Given the description of an element on the screen output the (x, y) to click on. 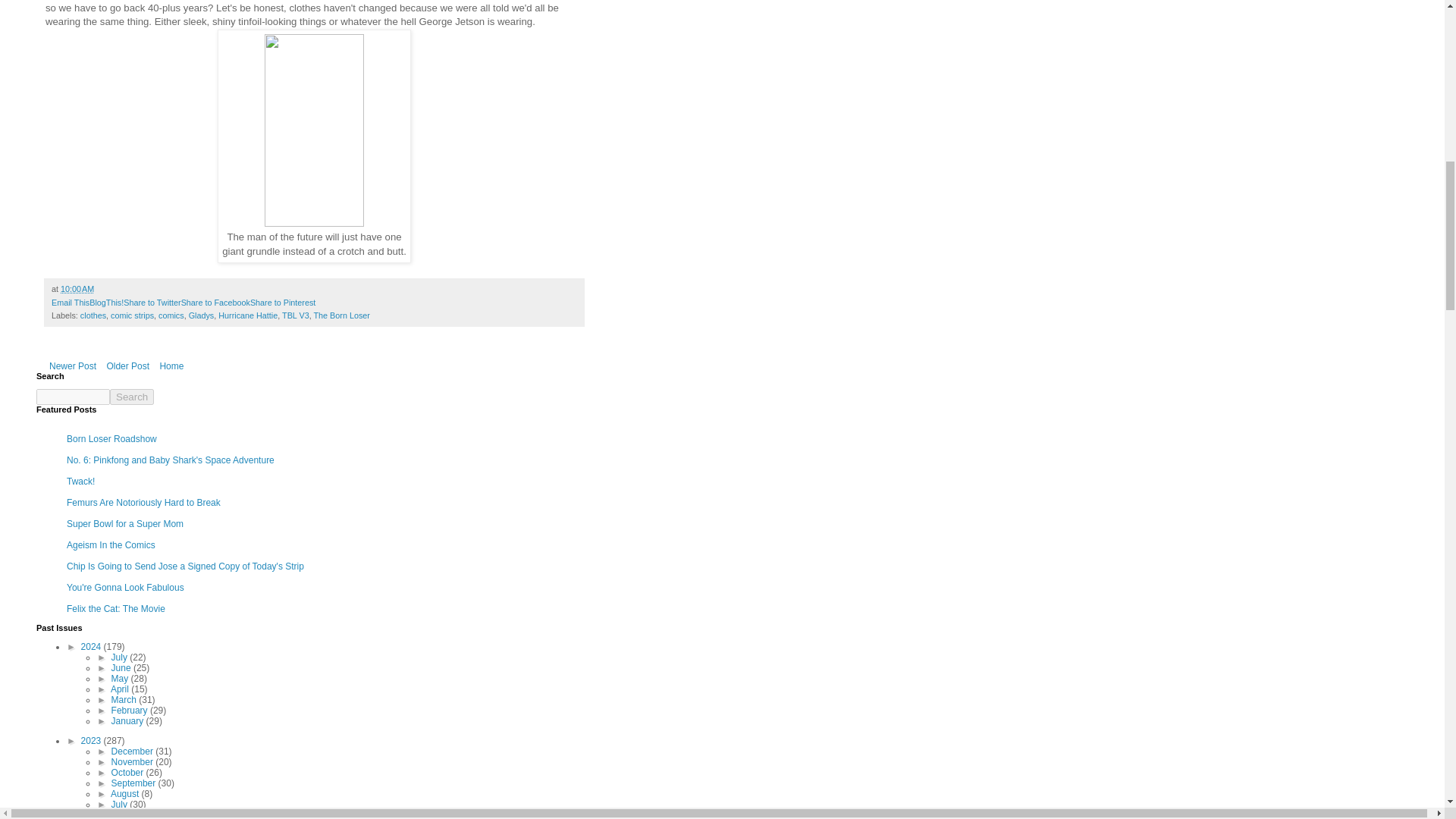
Born Loser Roadshow (111, 439)
Twack! (80, 480)
Ageism In the Comics (110, 544)
Email Post (103, 288)
Super Bowl for a Super Mom (124, 523)
Share to Twitter (151, 302)
Search (132, 396)
Femurs Are Notoriously Hard to Break (143, 502)
search (132, 396)
clothes (93, 315)
BlogThis! (105, 302)
Share to Pinterest (282, 302)
Email This (69, 302)
BlogThis! (105, 302)
Newer Post (72, 366)
